Given the description of an element on the screen output the (x, y) to click on. 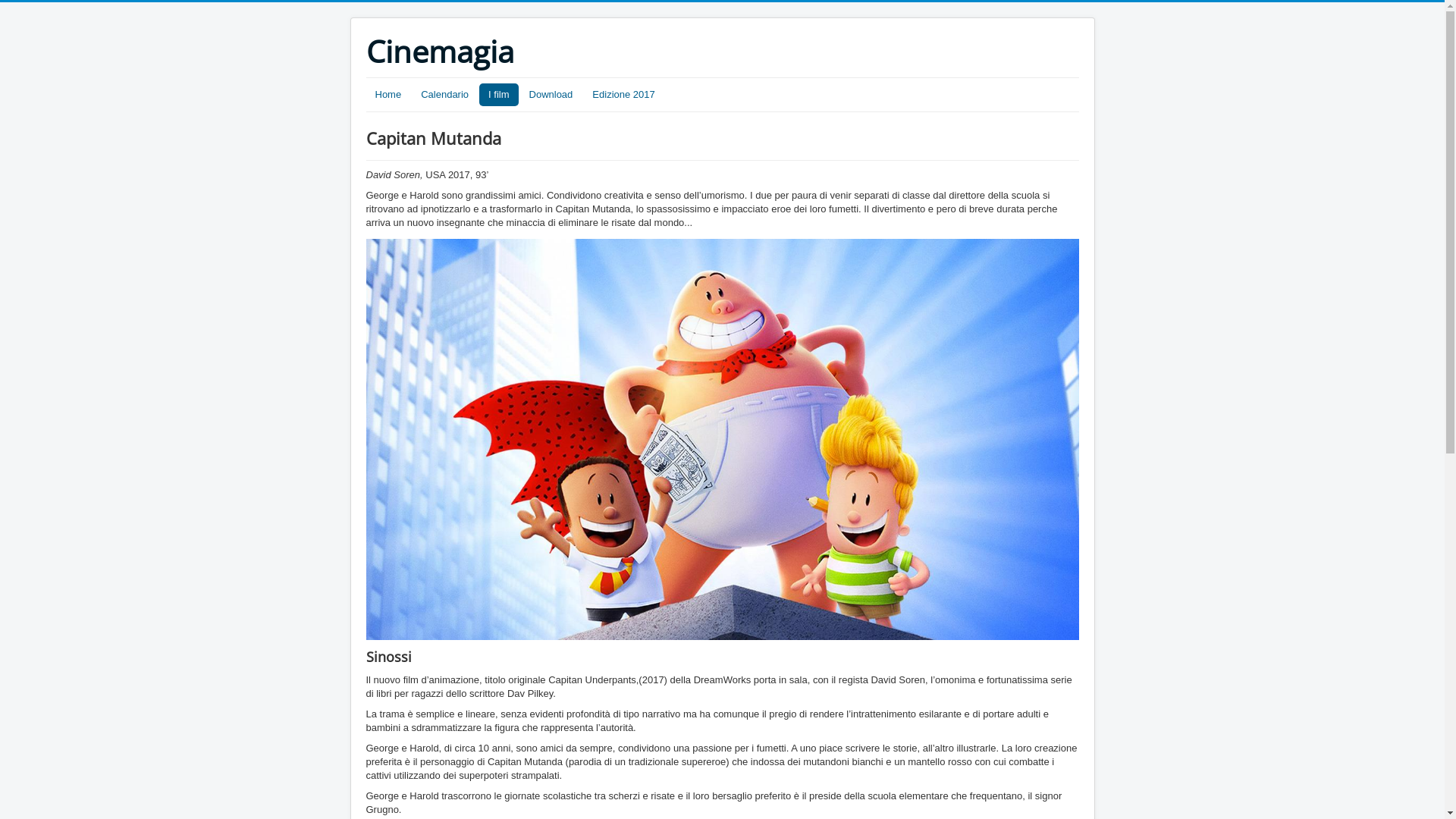
Download Element type: text (551, 94)
Calendario Element type: text (444, 94)
Home Element type: text (387, 94)
Cinemagia Element type: text (439, 51)
I film Element type: text (498, 94)
Edizione 2017 Element type: text (623, 94)
